Given the description of an element on the screen output the (x, y) to click on. 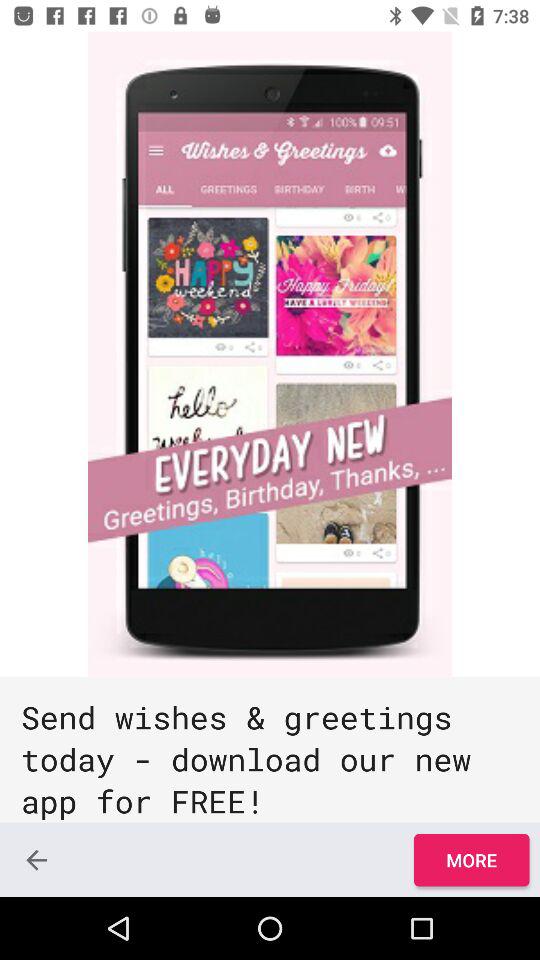
download app (270, 353)
